Given the description of an element on the screen output the (x, y) to click on. 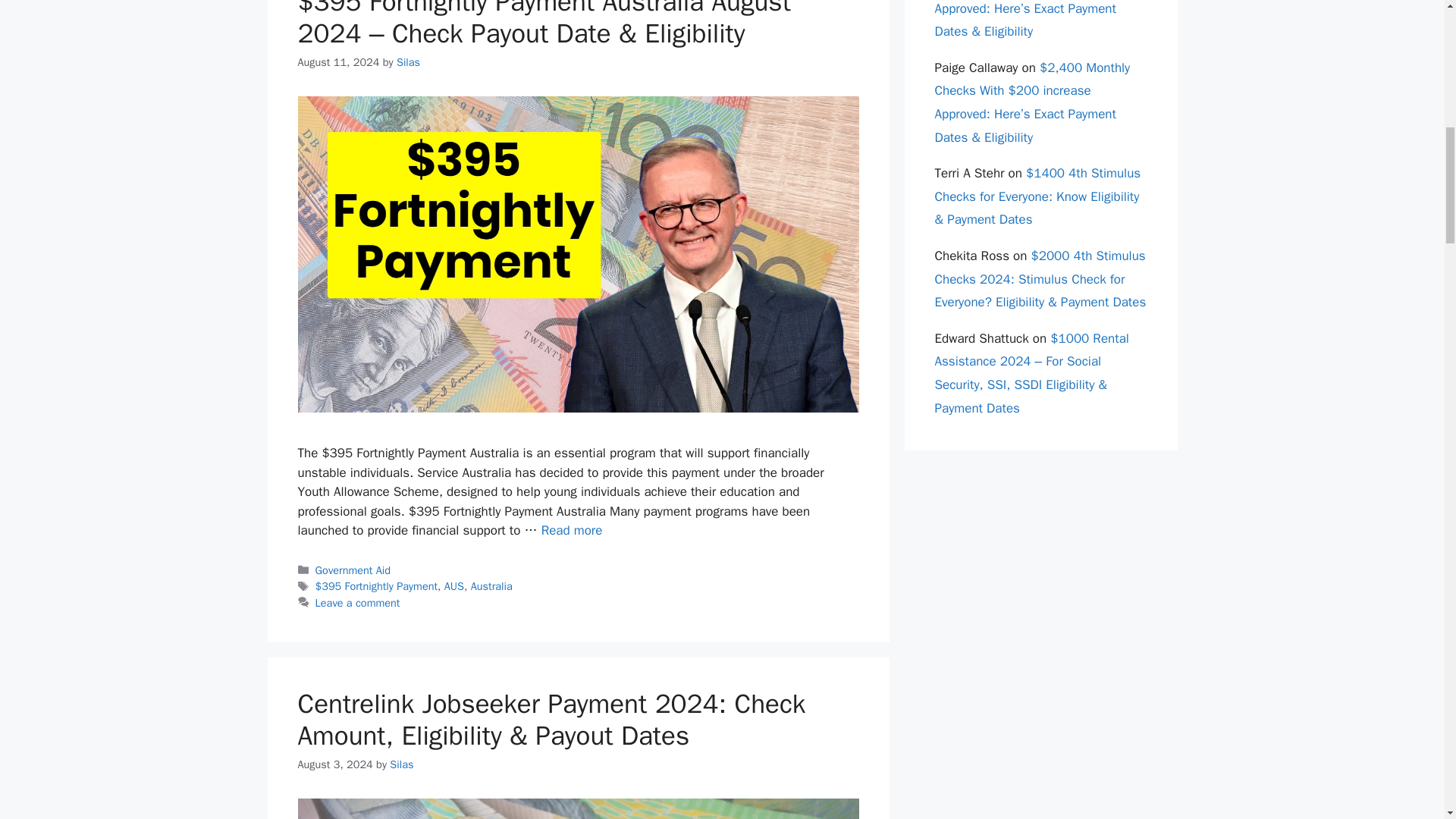
Australia (491, 585)
View all posts by Silas (401, 764)
AUS (454, 585)
Government Aid (352, 570)
View all posts by Silas (408, 61)
Silas (401, 764)
Leave a comment (357, 602)
Read more (571, 530)
Silas (408, 61)
